Given the description of an element on the screen output the (x, y) to click on. 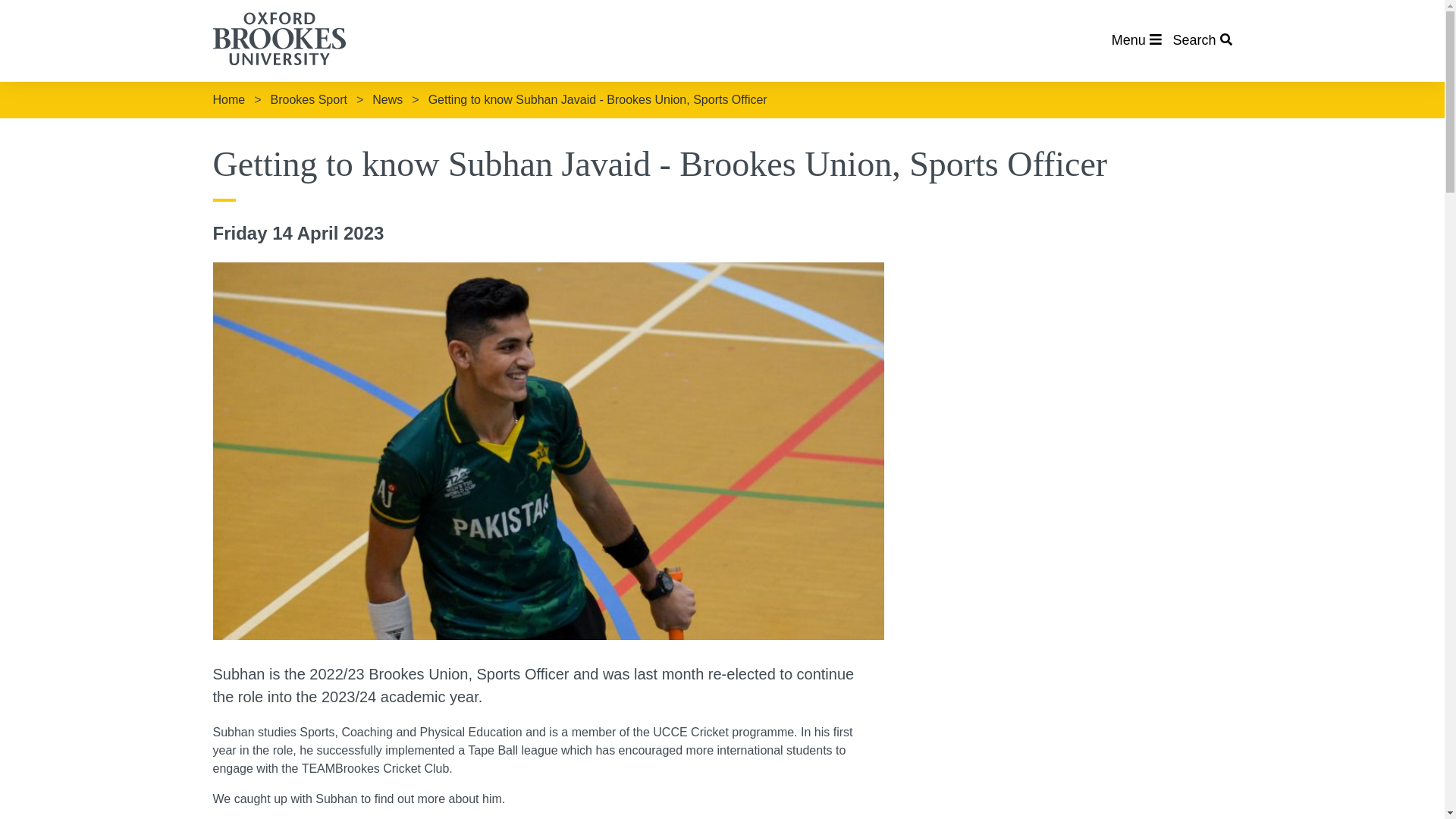
Search (1201, 39)
Menu (1136, 39)
